Given the description of an element on the screen output the (x, y) to click on. 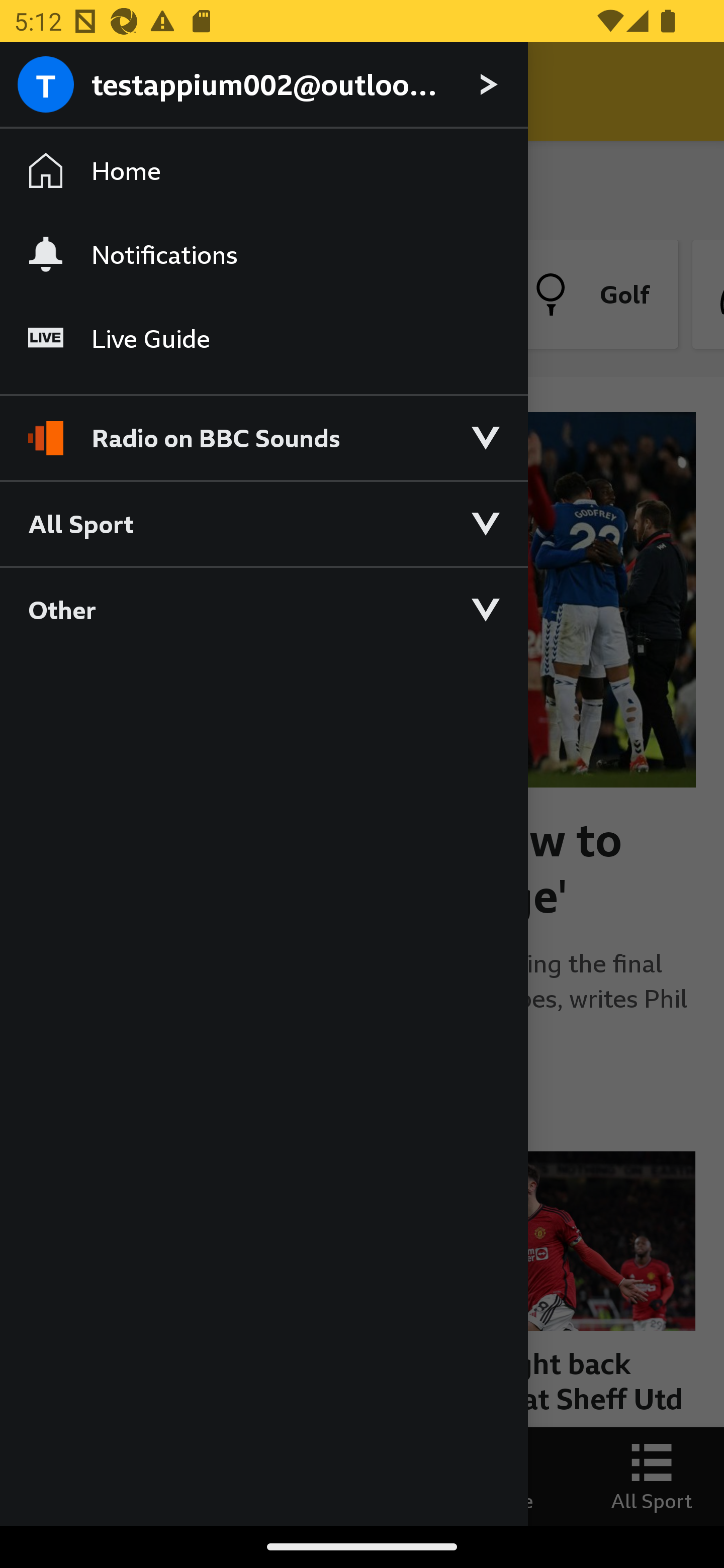
testappium002@outlook.com (263, 85)
Home (263, 170)
Notifications (263, 253)
Live Guide (263, 338)
Radio on BBC Sounds (263, 429)
All Sport (263, 522)
Other (263, 609)
